Given the description of an element on the screen output the (x, y) to click on. 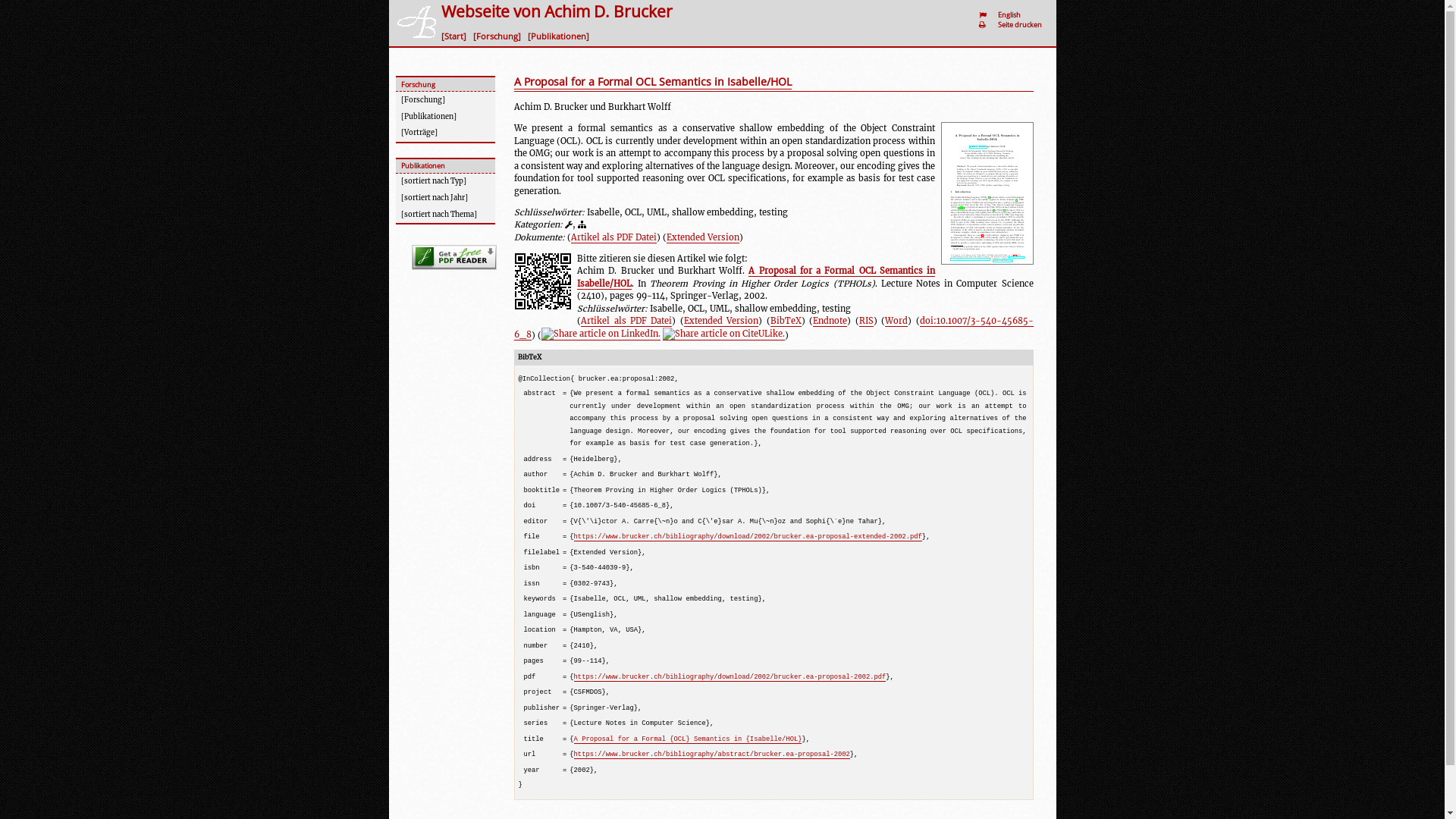
Share article on LinkedIn. Element type: hover (600, 333)
Share article on CiteULike. Element type: hover (723, 333)
[Forschung] Element type: text (445, 99)
Artikel als PDF Datei Element type: text (612, 237)
doi:10.1007/3-540-45685-6_8 Element type: text (773, 327)
English Element type: text (1010, 14)
[sortiert nach Typ] Element type: text (445, 181)
Extended Version Element type: text (701, 237)
[sortiert nach Jahr] Element type: text (445, 198)
Seite drucken Element type: text (1021, 24)
BibTeX Element type: text (785, 320)
[Publikationen] Element type: text (560, 35)
Extended Version Element type: text (721, 320)
A Proposal for a Formal OCL Semantics in Isabelle/HOL Element type: text (652, 82)
Artikel als PDF Datei Element type: text (625, 320)
Word Element type: text (895, 320)
[Start] Element type: text (455, 35)
[Publikationen] Element type: text (445, 116)
[sortiert nach Thema] Element type: text (445, 214)
A Proposal for a Formal OCL Semantics in Isabelle/HOL Element type: text (756, 277)
Endnote Element type: text (829, 320)
RIS Element type: text (866, 320)
[Forschung] Element type: text (499, 35)
